Given the description of an element on the screen output the (x, y) to click on. 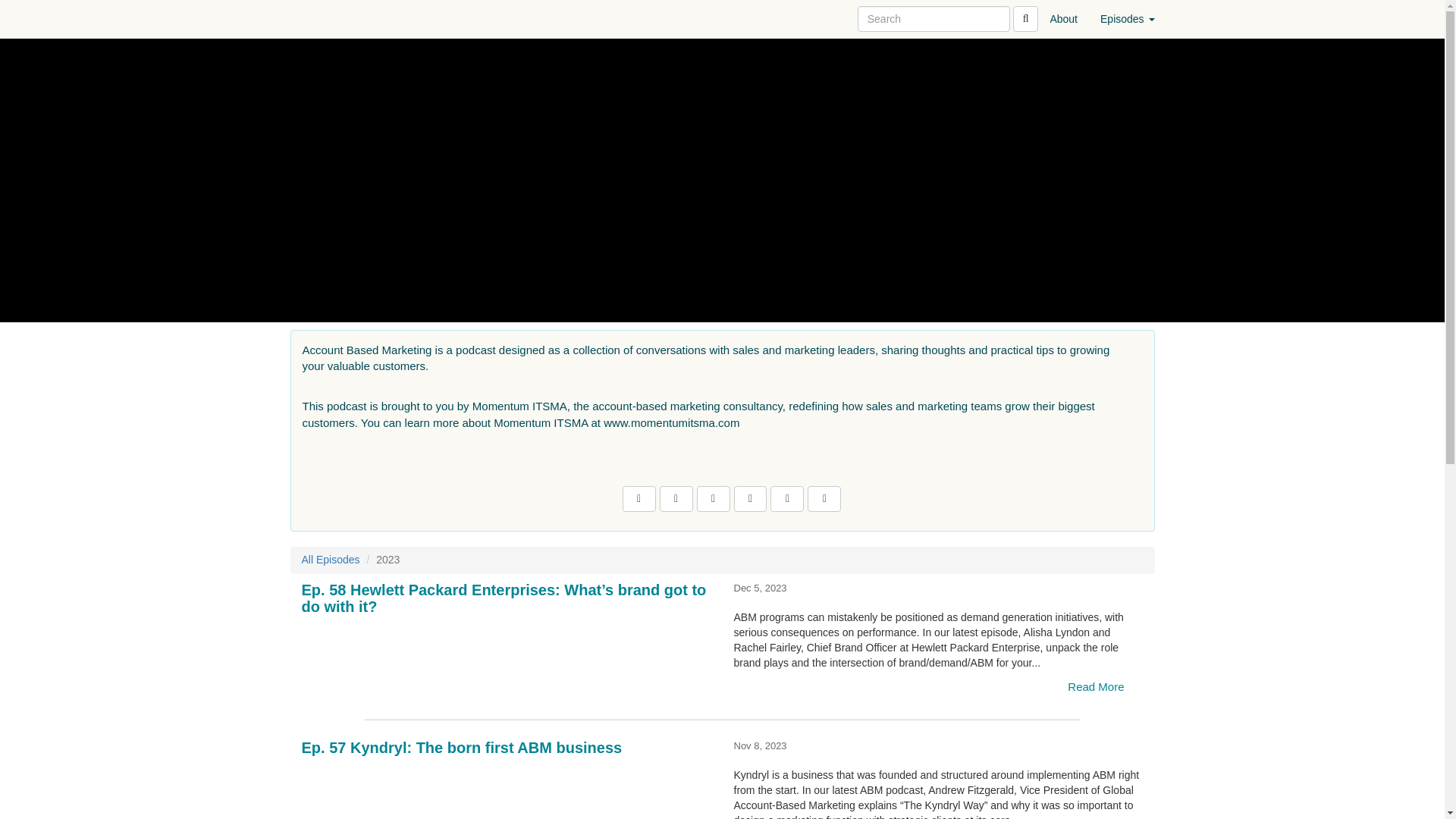
Ep. 57 Kyndryl: The born first ABM business (506, 789)
Episodes (1127, 18)
Home Page (320, 18)
About (1063, 18)
